Given the description of an element on the screen output the (x, y) to click on. 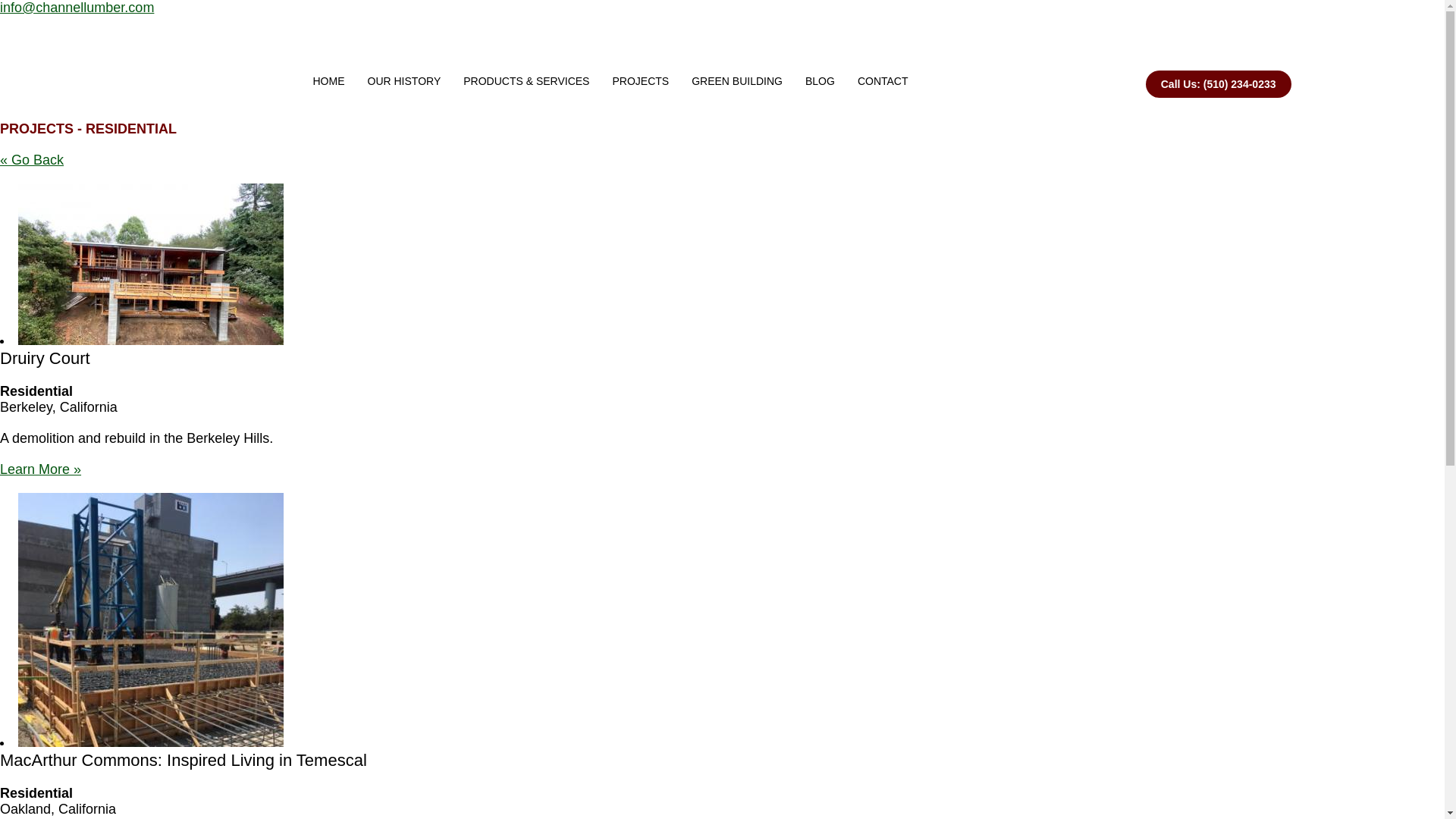
OUR HISTORY (404, 68)
GREEN BUILDING (736, 68)
Channel Lumber (221, 68)
